Given the description of an element on the screen output the (x, y) to click on. 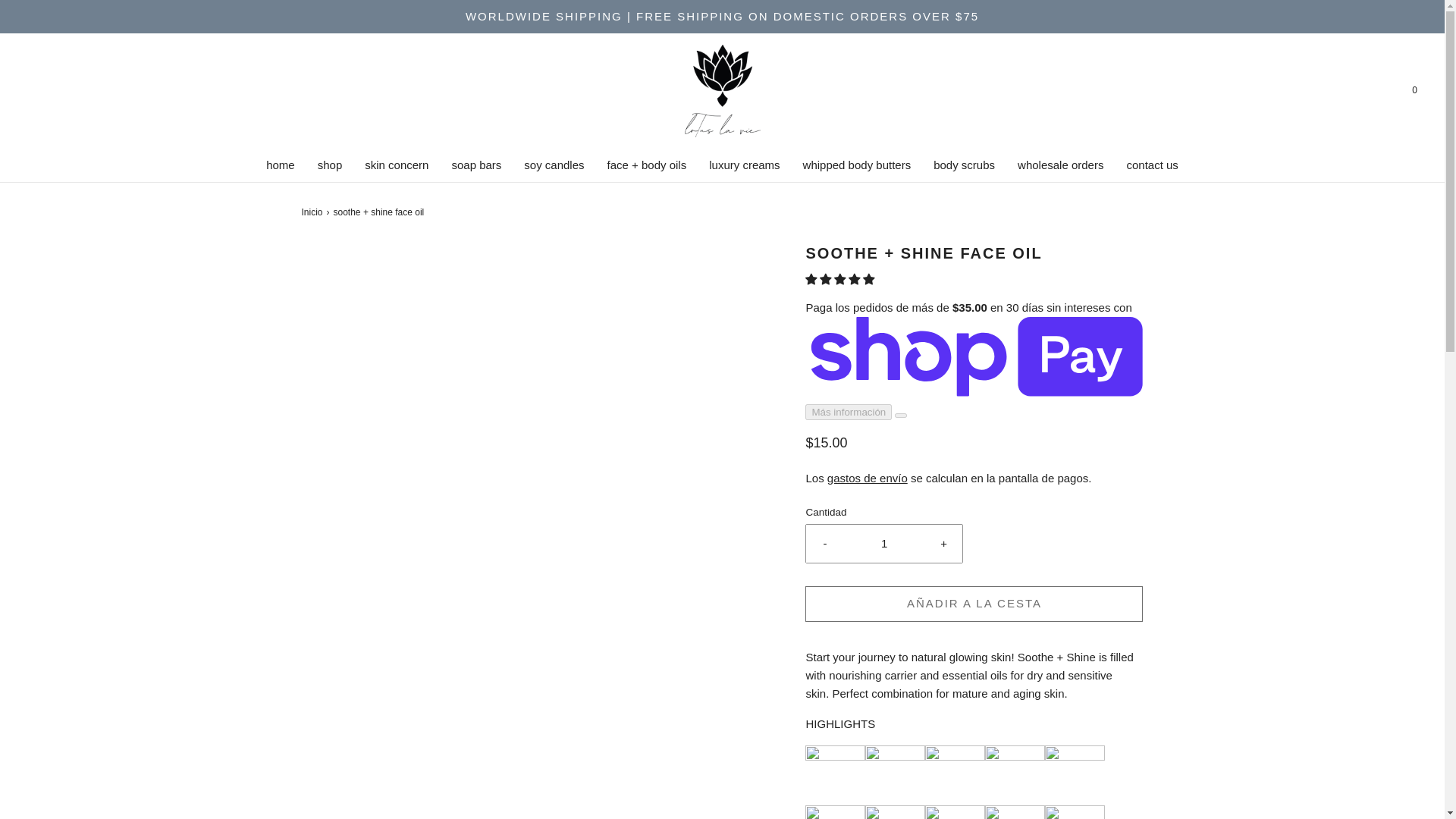
0 (1413, 90)
1 (884, 543)
Su pedido (1413, 90)
